Given the description of an element on the screen output the (x, y) to click on. 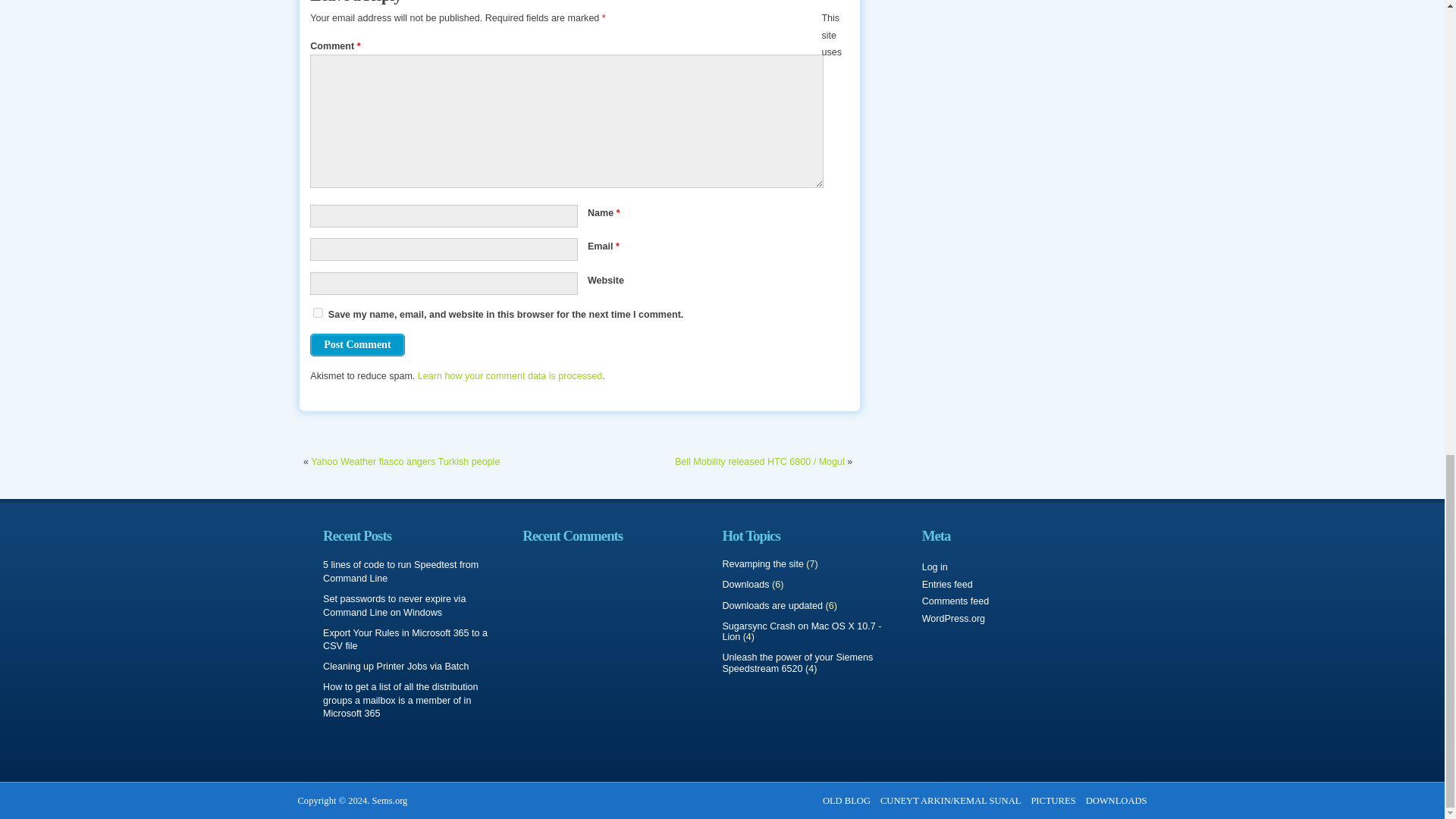
Comments feed (955, 601)
Downloads (745, 584)
WordPress.org (953, 618)
Unleash the power of your Siemens Speedstream 6520 (797, 662)
Post Comment (357, 344)
Downloads are updated (772, 605)
Cleaning up Printer Jobs via Batch (395, 665)
Learn how your comment data is processed (509, 376)
5 lines of code to run Speedtest from Command Line (401, 571)
Yahoo Weather fiasco angers Turkish people (405, 461)
Posts Older Than Nov. 2010 (846, 800)
Log in (934, 566)
Set passwords to never expire via Command Line on Windows (394, 605)
Export Your Rules in Microsoft 365 to a CSV file (405, 639)
